Given the description of an element on the screen output the (x, y) to click on. 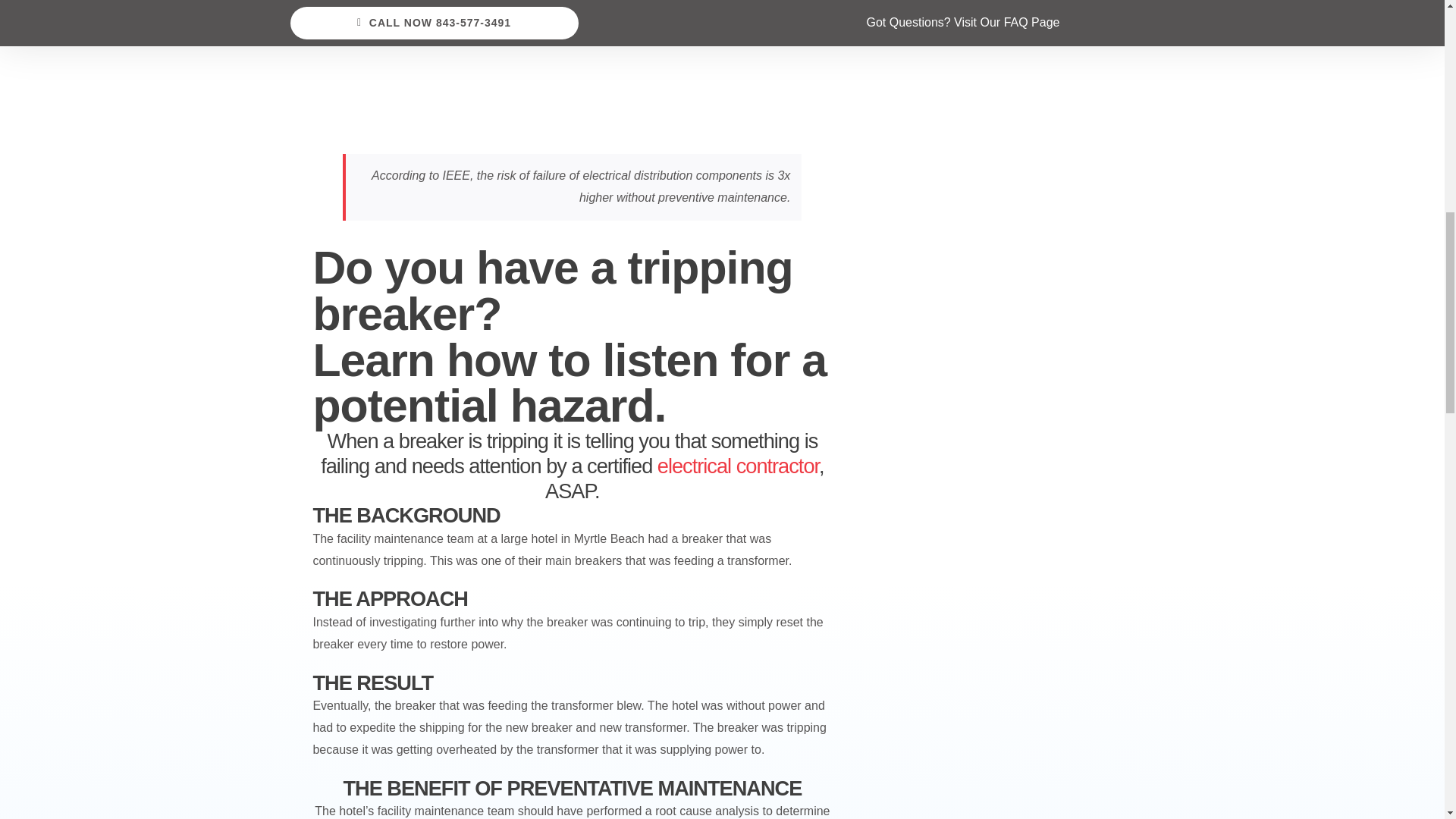
electrical contractor (738, 465)
